Given the description of an element on the screen output the (x, y) to click on. 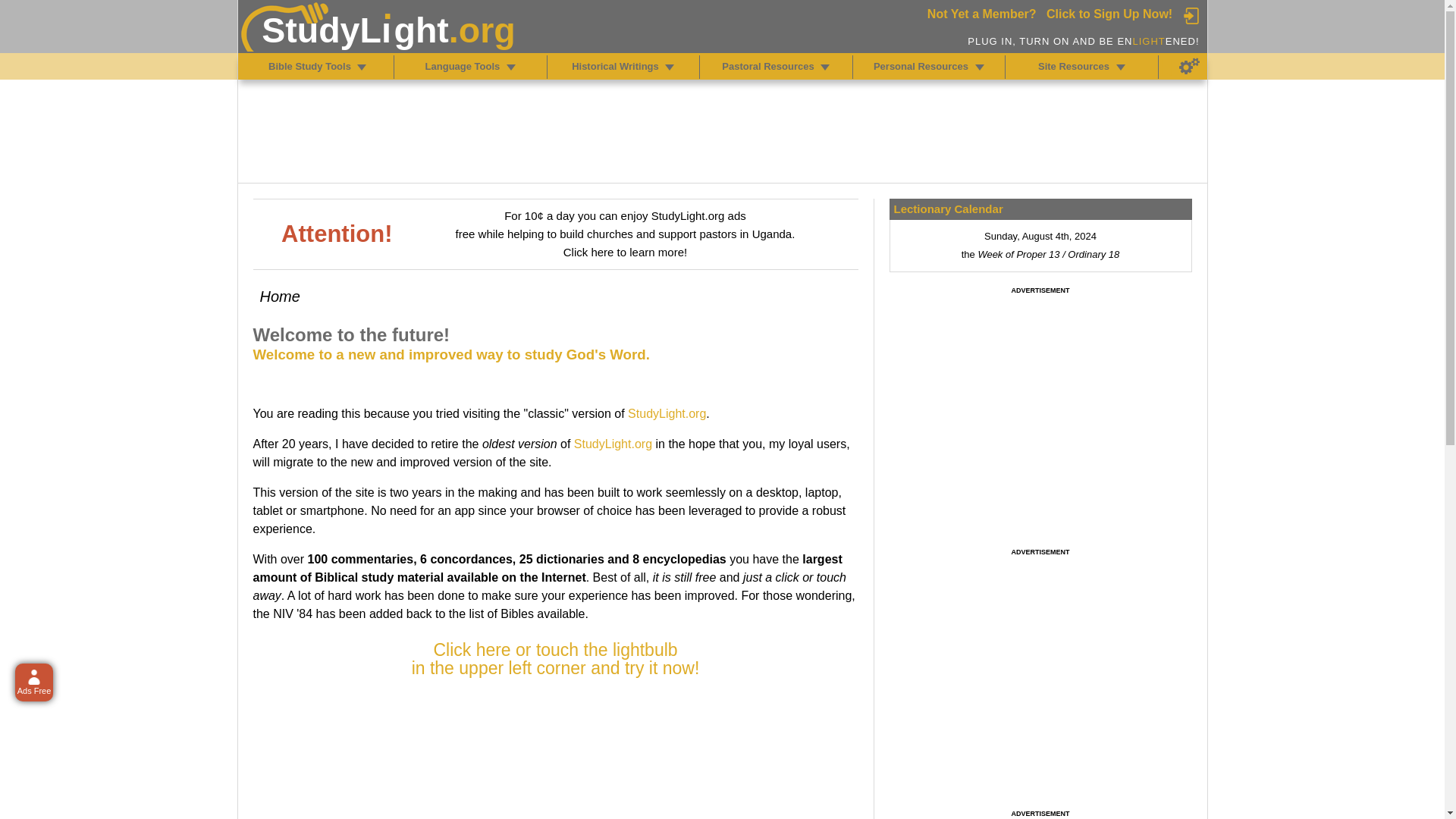
Click to Sign Up Now! (1109, 13)
Pastoral Resources (825, 67)
Historical Writings (669, 67)
Site Resources (1120, 67)
Home (279, 296)
Personal Resources (979, 67)
Click here to learn more! (625, 251)
Bible Study Tools (361, 67)
Language Tools (510, 67)
